Given the description of an element on the screen output the (x, y) to click on. 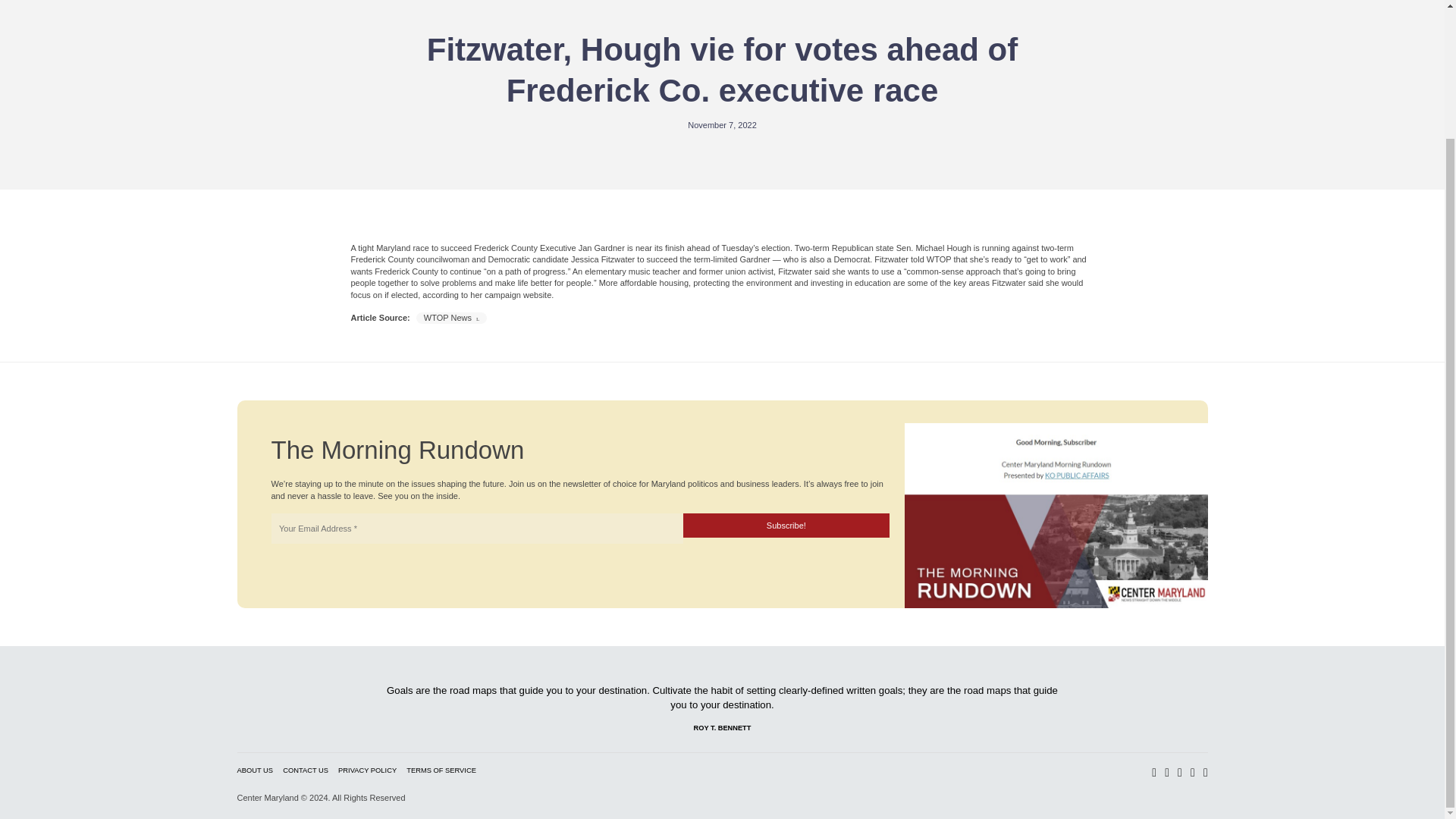
CONTACT US (305, 769)
Your Email Address (476, 528)
TERMS OF SERVICE (441, 769)
WTOP News (451, 317)
Subscribe! (785, 525)
ABOUT US (254, 769)
PRIVACY POLICY (366, 769)
Subscribe! (785, 525)
